Given the description of an element on the screen output the (x, y) to click on. 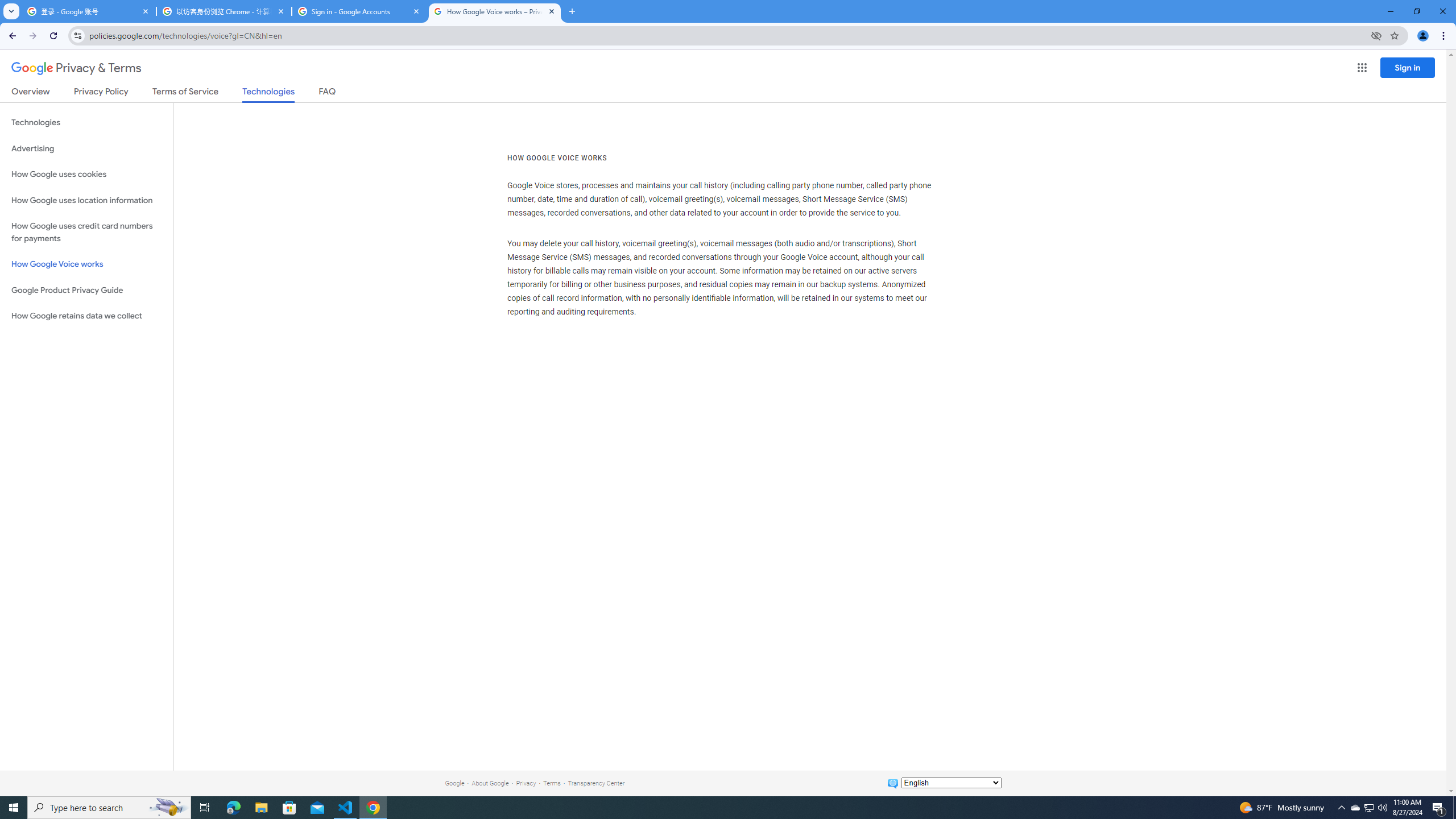
Change language: (951, 782)
Transparency Center (595, 783)
